Given the description of an element on the screen output the (x, y) to click on. 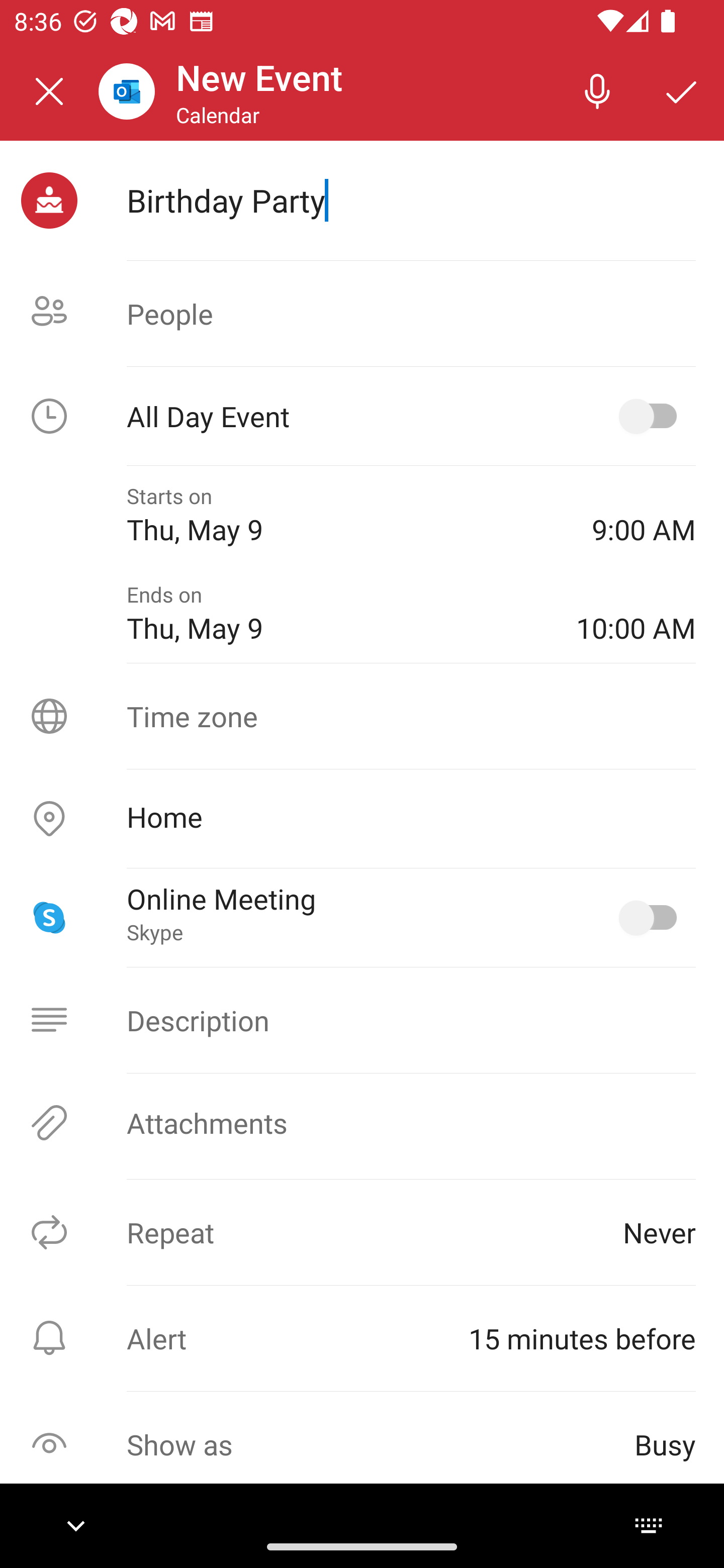
Close (49, 91)
Save (681, 90)
Birthday Party (410, 200)
birthday selected, event icon picker (48, 200)
People (362, 313)
All Day Event (362, 415)
Starts on Thu, May 9 (344, 514)
9:00 AM (643, 514)
Ends on Thu, May 9 (336, 613)
10:00 AM (635, 613)
Time zone (362, 715)
Location, Home Home (362, 818)
Online Meeting, Skype selected (651, 917)
Description (362, 1019)
Attachments (362, 1122)
Repeat Never (362, 1232)
Alert ⁨15 minutes before (362, 1337)
Show as Busy (362, 1444)
